Given the description of an element on the screen output the (x, y) to click on. 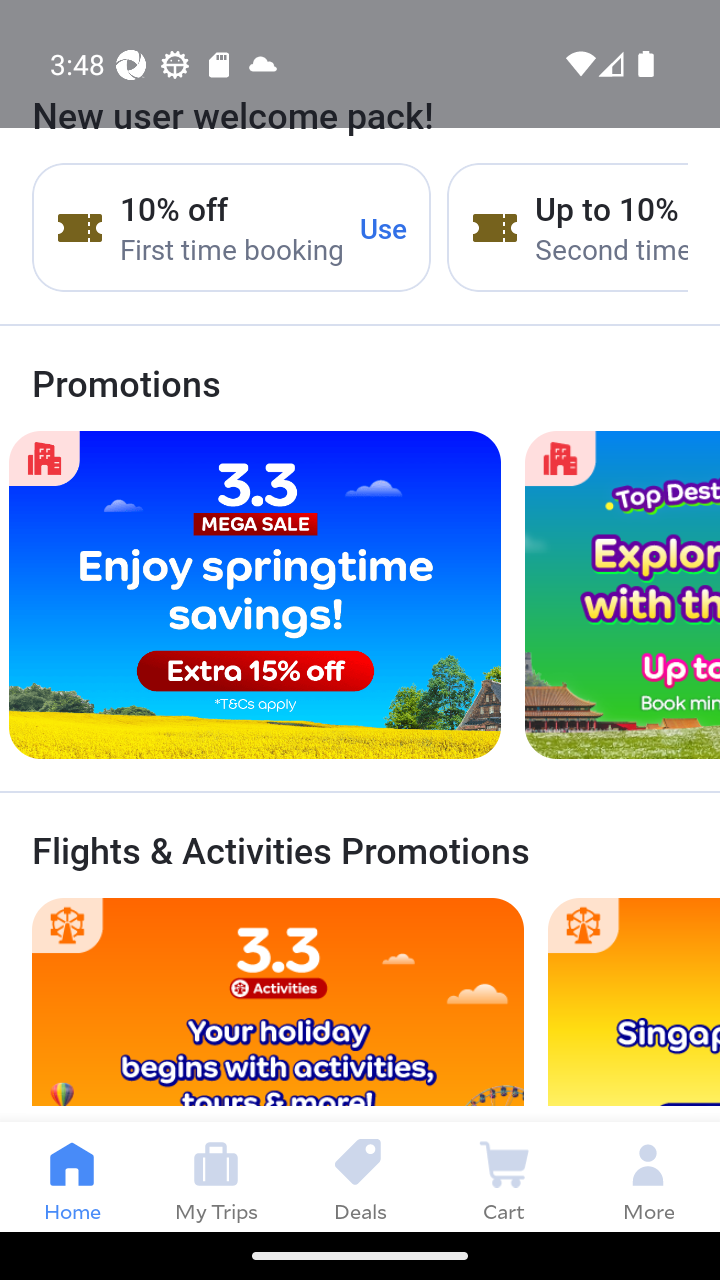
Use (384, 228)
Home (72, 1176)
My Trips (216, 1176)
Deals (360, 1176)
Cart (504, 1176)
More (648, 1176)
